Given the description of an element on the screen output the (x, y) to click on. 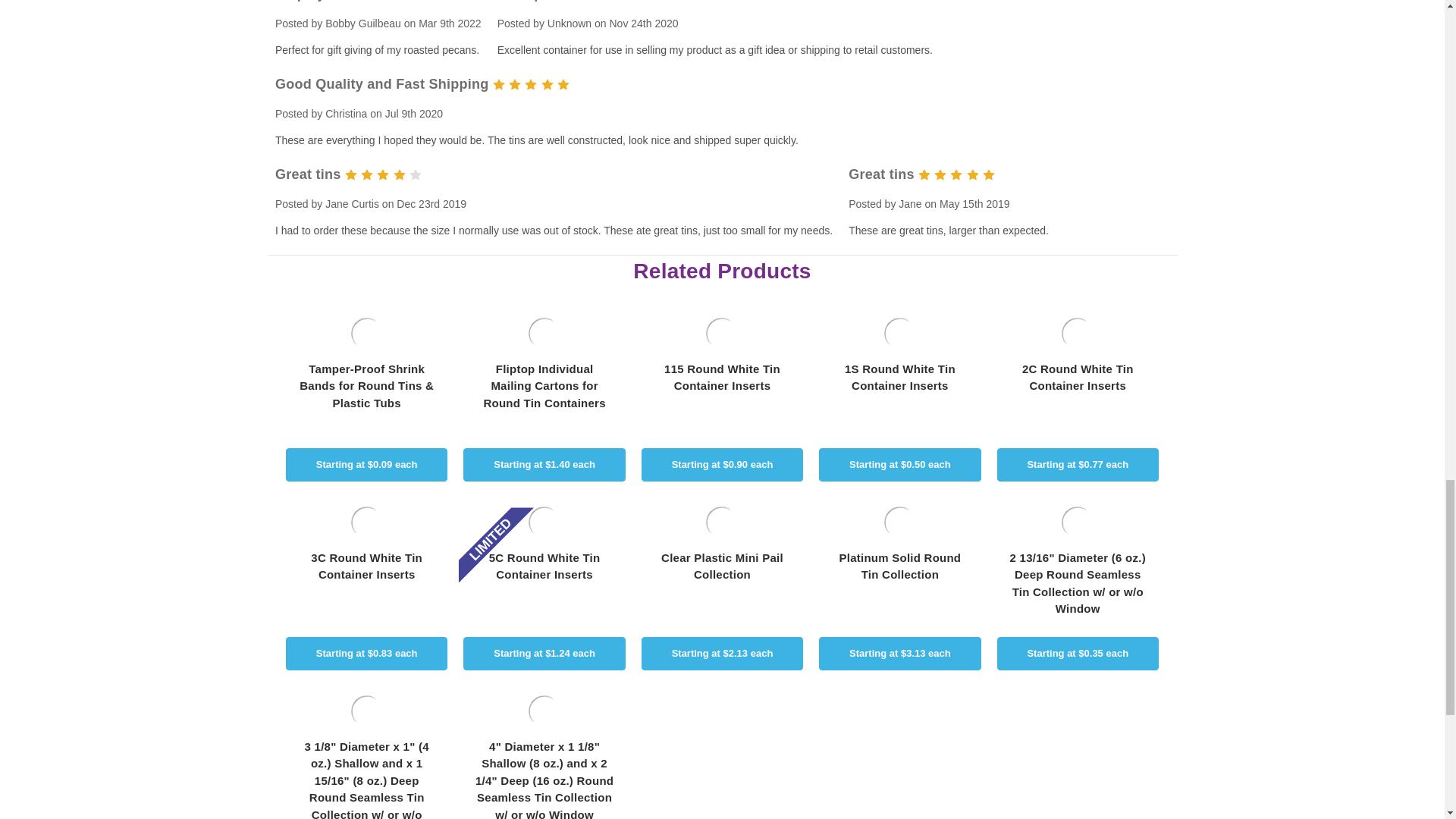
1S Tin Insert (899, 333)
Clear Plastic Mini Pail Red (722, 522)
Platinum Round Tin Container (899, 522)
Fliptop Individual Mailing Carton (544, 333)
5c Tin Insert (544, 522)
115 Tin Insert (722, 333)
3C Tin Insert (366, 522)
Tamper-Proof Shrink Bands for Round Tins (366, 333)
2C Tin Insert (1077, 333)
